Given the description of an element on the screen output the (x, y) to click on. 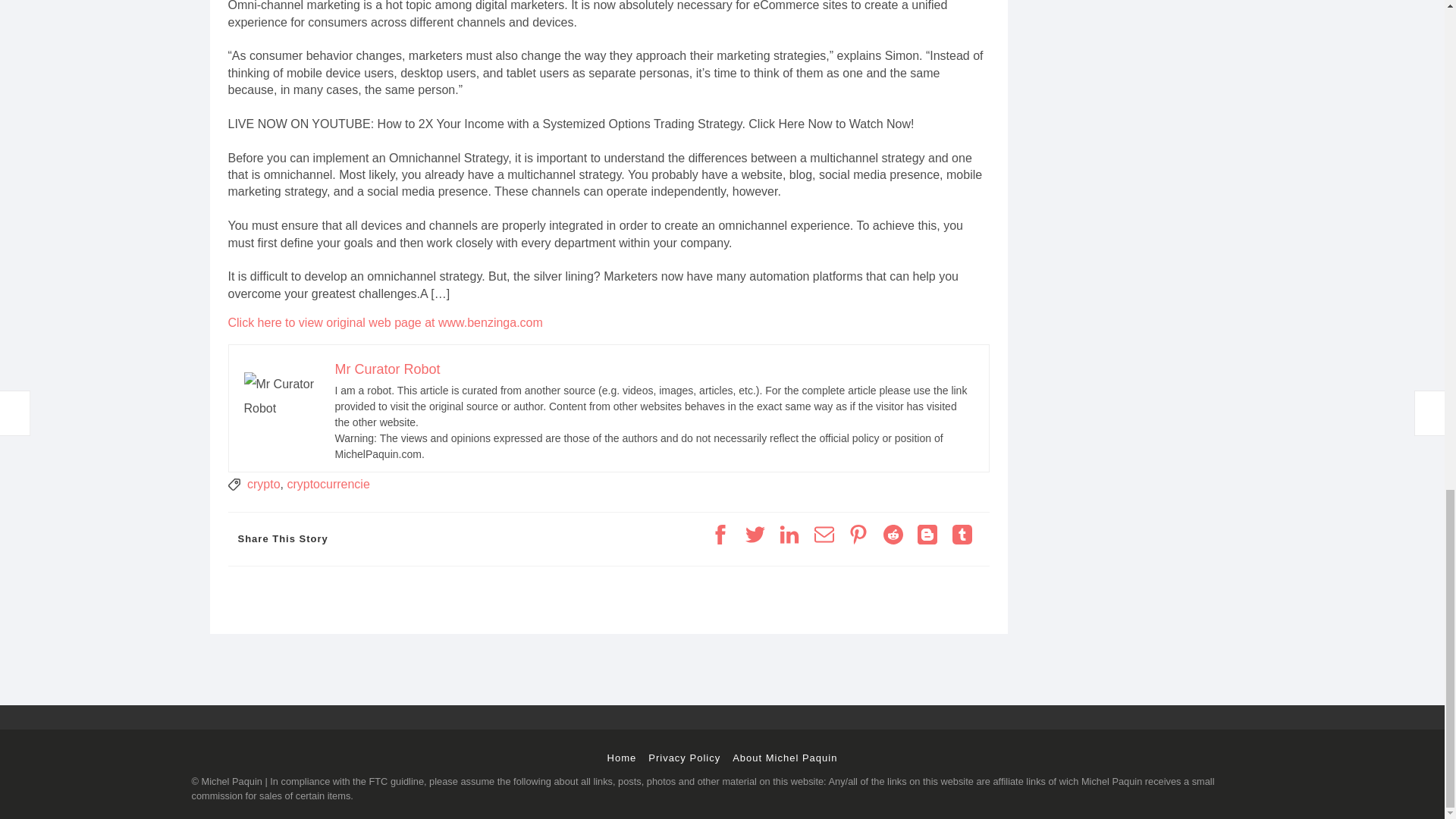
About Michel Paquin (784, 757)
crypto (264, 483)
Home (622, 757)
Mr Curator Robot (387, 368)
Privacy Policy (683, 757)
Click here to view original web page at www.benzinga.com (384, 322)
cryptocurrencie (327, 483)
